Given the description of an element on the screen output the (x, y) to click on. 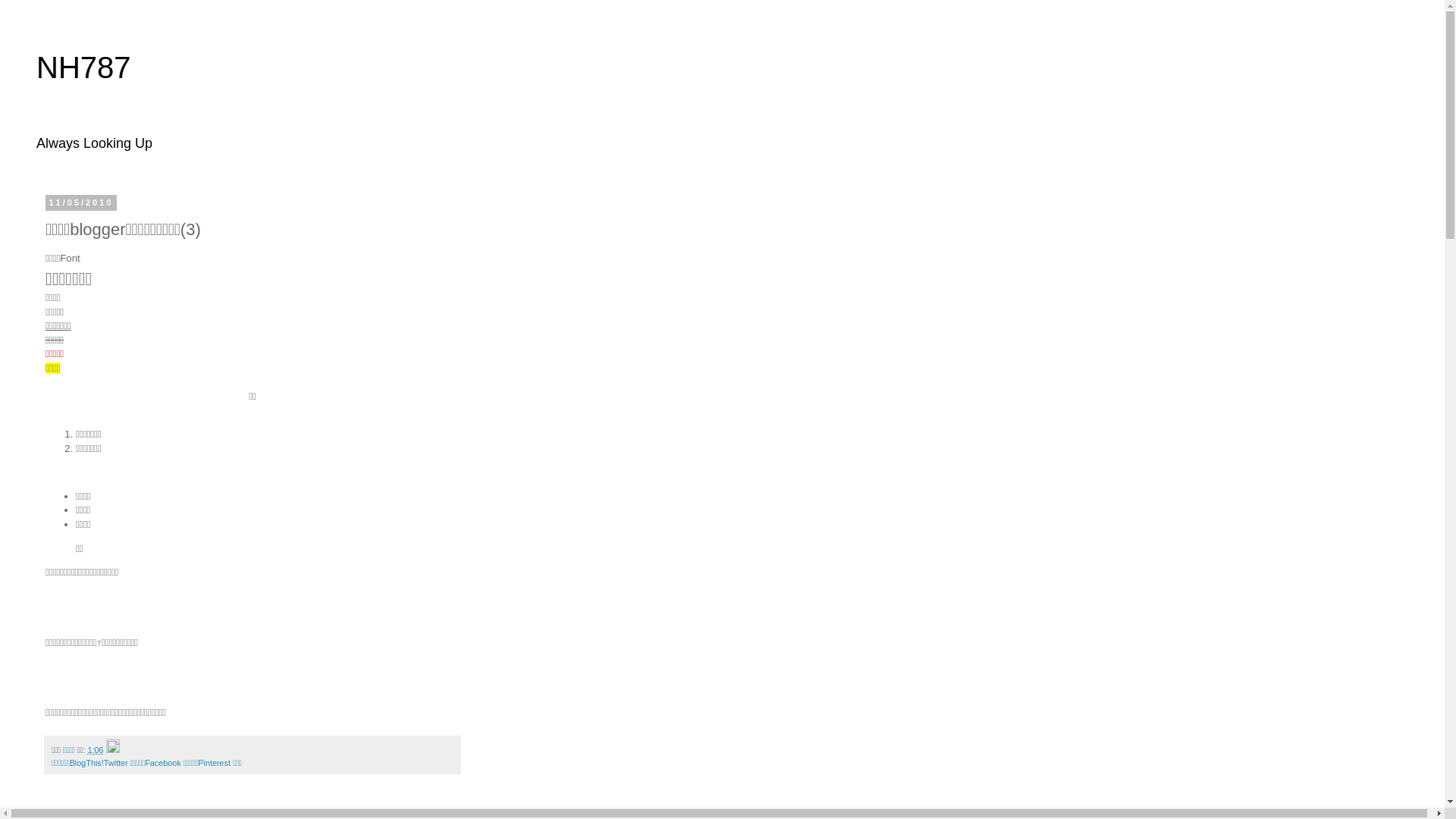
BlogThis! Element type: text (86, 762)
1:06 Element type: text (95, 748)
NH787 Element type: text (83, 67)
